Given the description of an element on the screen output the (x, y) to click on. 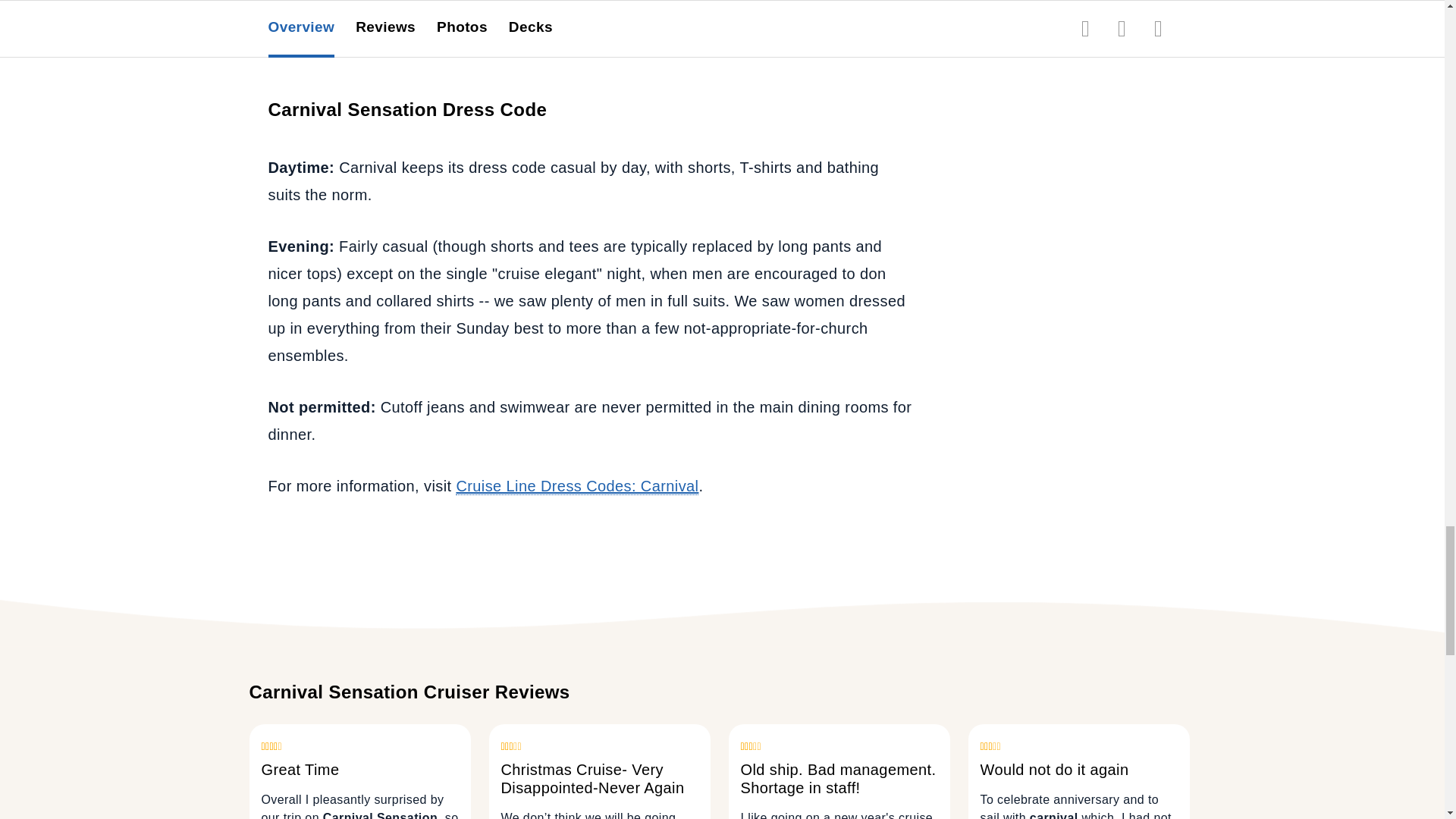
Cruise Line Dress Codes: Carnival (576, 486)
Christmas Cruise- Very Disappointed-Never Again (598, 789)
Great Time (359, 780)
